Given the description of an element on the screen output the (x, y) to click on. 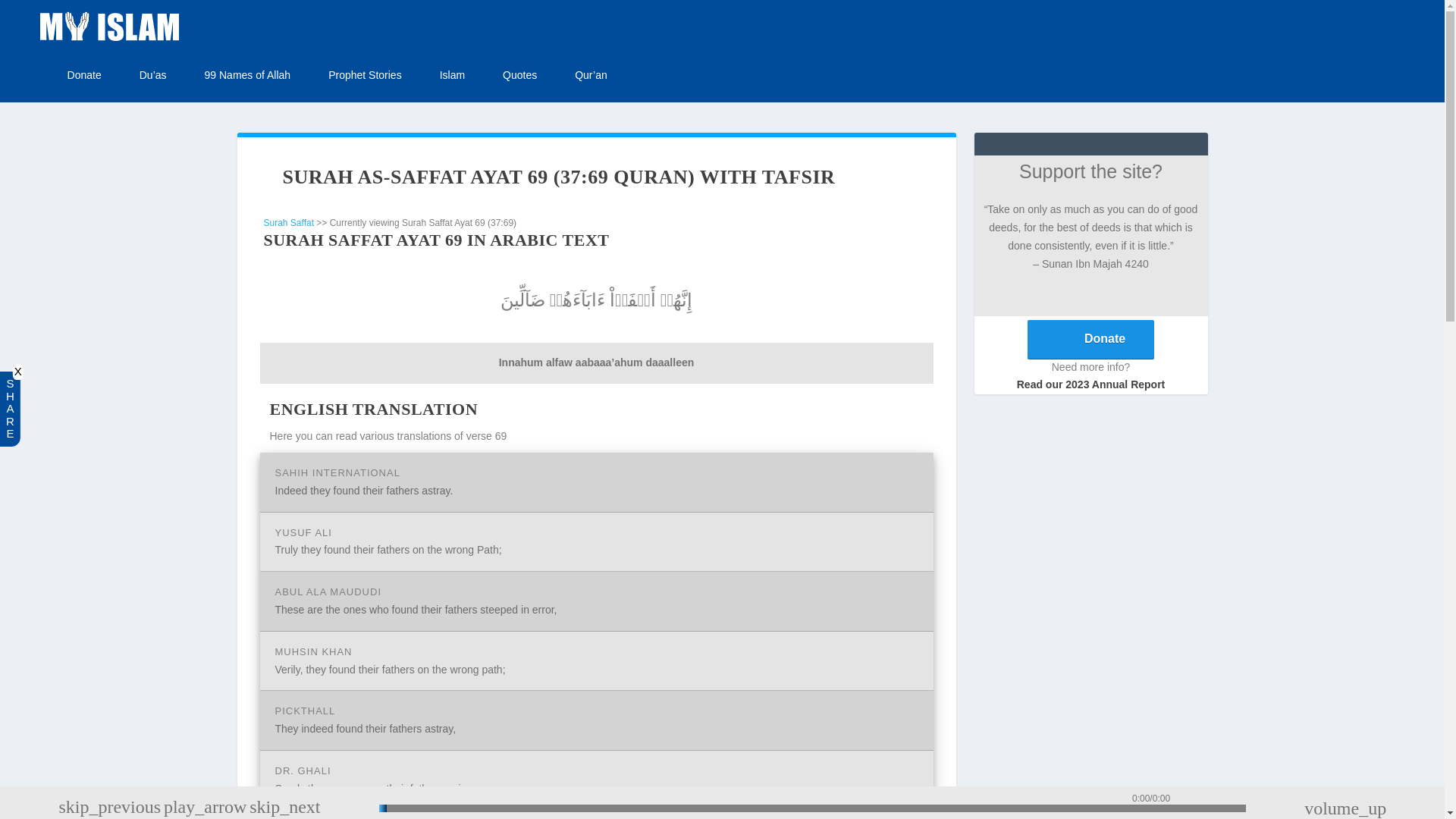
Surah Saffat (288, 222)
Islam (451, 75)
Donate (83, 75)
Quotes (519, 75)
99 Names of Allah (248, 75)
Prophet Stories (365, 75)
